Given the description of an element on the screen output the (x, y) to click on. 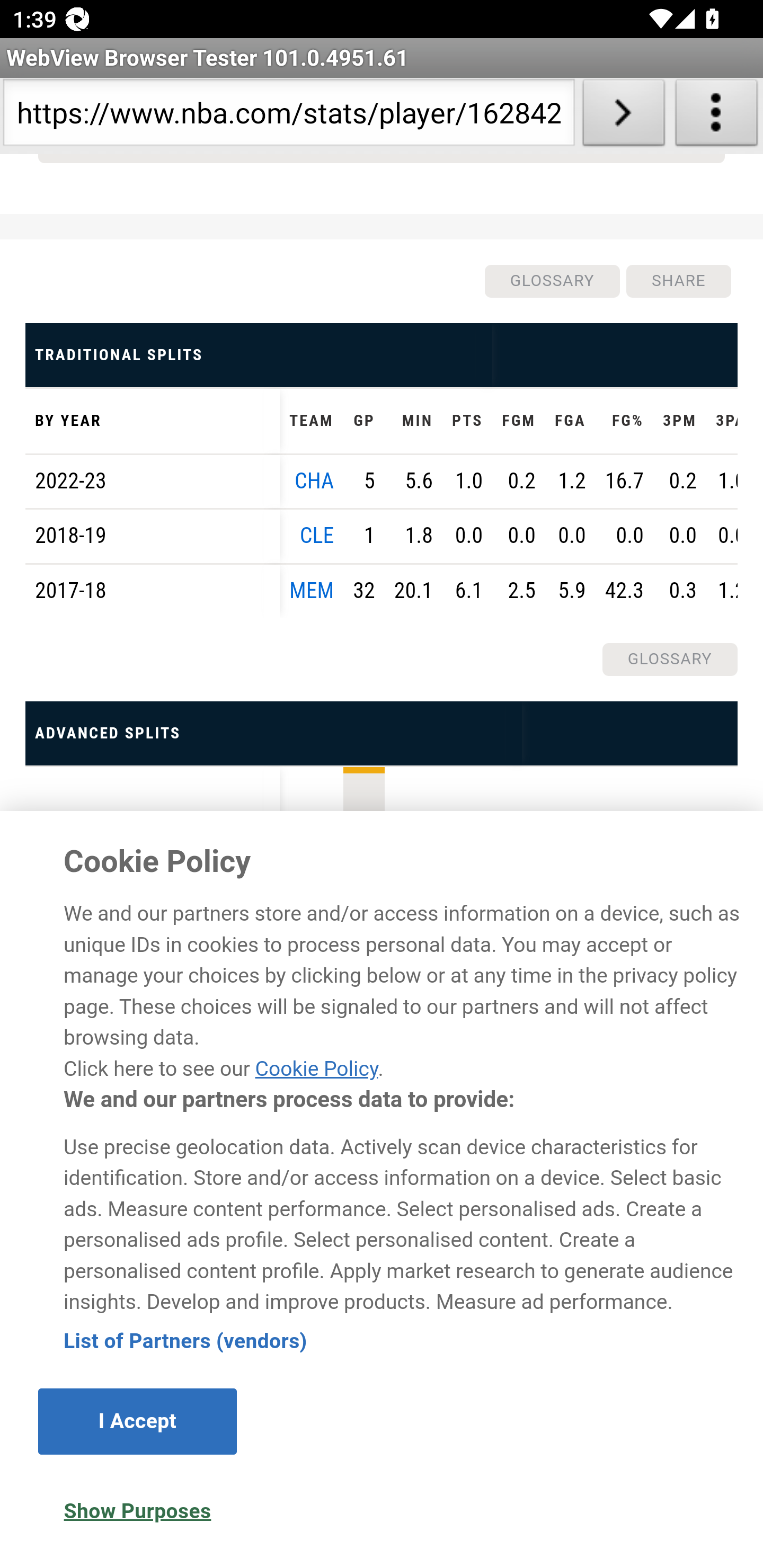
https://www.nba.com/stats/player/1628424 (288, 115)
Load URL (623, 115)
About WebView (716, 115)
GLOSSARY (550, 281)
SHARE (677, 281)
BY YEAR (152, 421)
TEAM (312, 421)
GP (363, 421)
MIN (413, 421)
PTS (466, 421)
FGM (518, 421)
FGA (569, 421)
FG% (624, 421)
3PM (680, 421)
CHA (314, 481)
CLE (317, 536)
MEM (312, 591)
GLOSSARY (669, 659)
Cookie Policy (316, 1068)
List of Partners (vendors) (185, 1341)
I Accept (137, 1422)
Show Purposes (137, 1512)
